Given the description of an element on the screen output the (x, y) to click on. 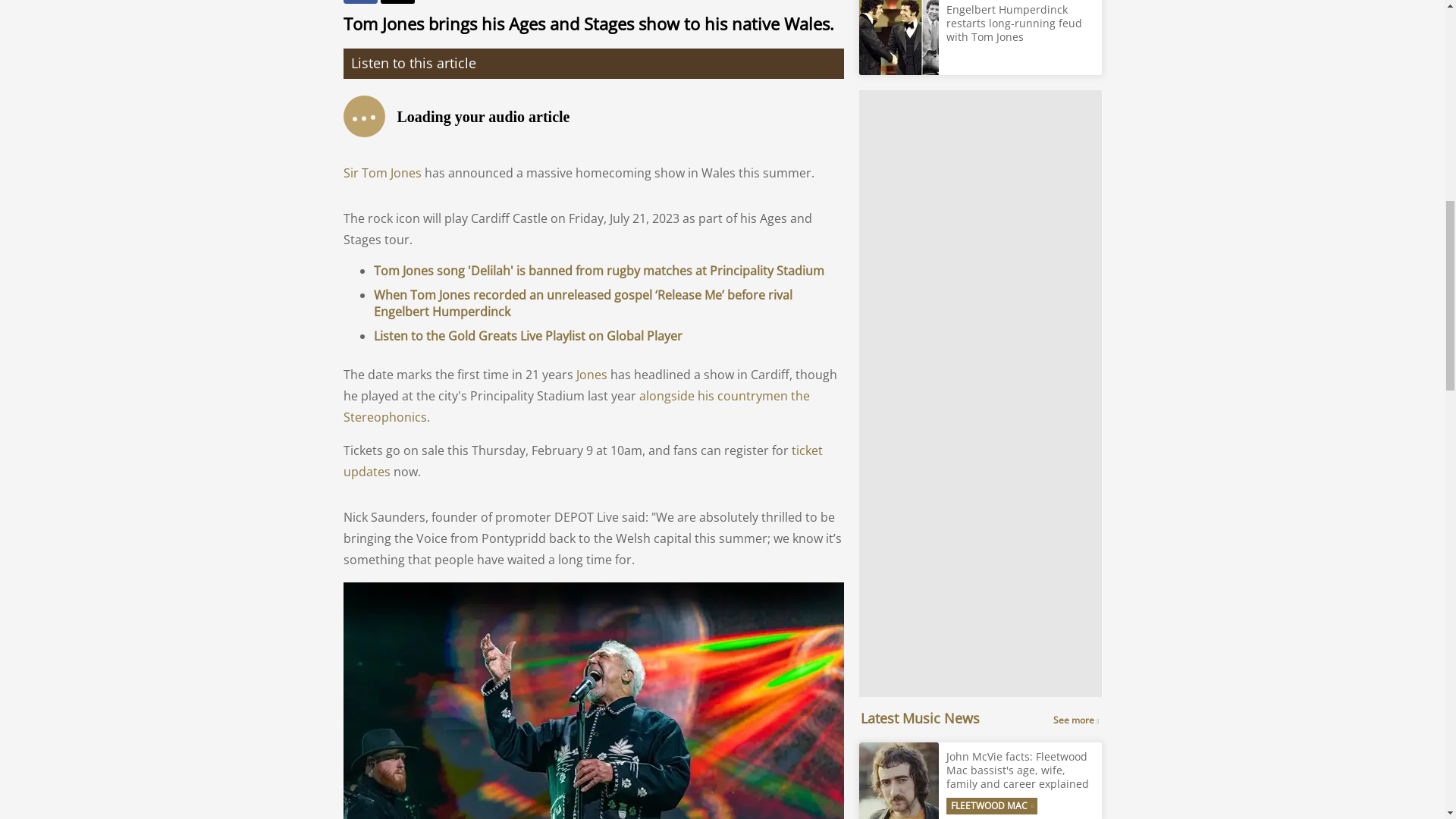
ticket updates (582, 460)
Sir Tom Jones (381, 172)
Listen to the Gold Greats Live Playlist on Global Player (526, 335)
Jones (591, 374)
alongside his countrymen the Stereophonics (575, 406)
